Given the description of an element on the screen output the (x, y) to click on. 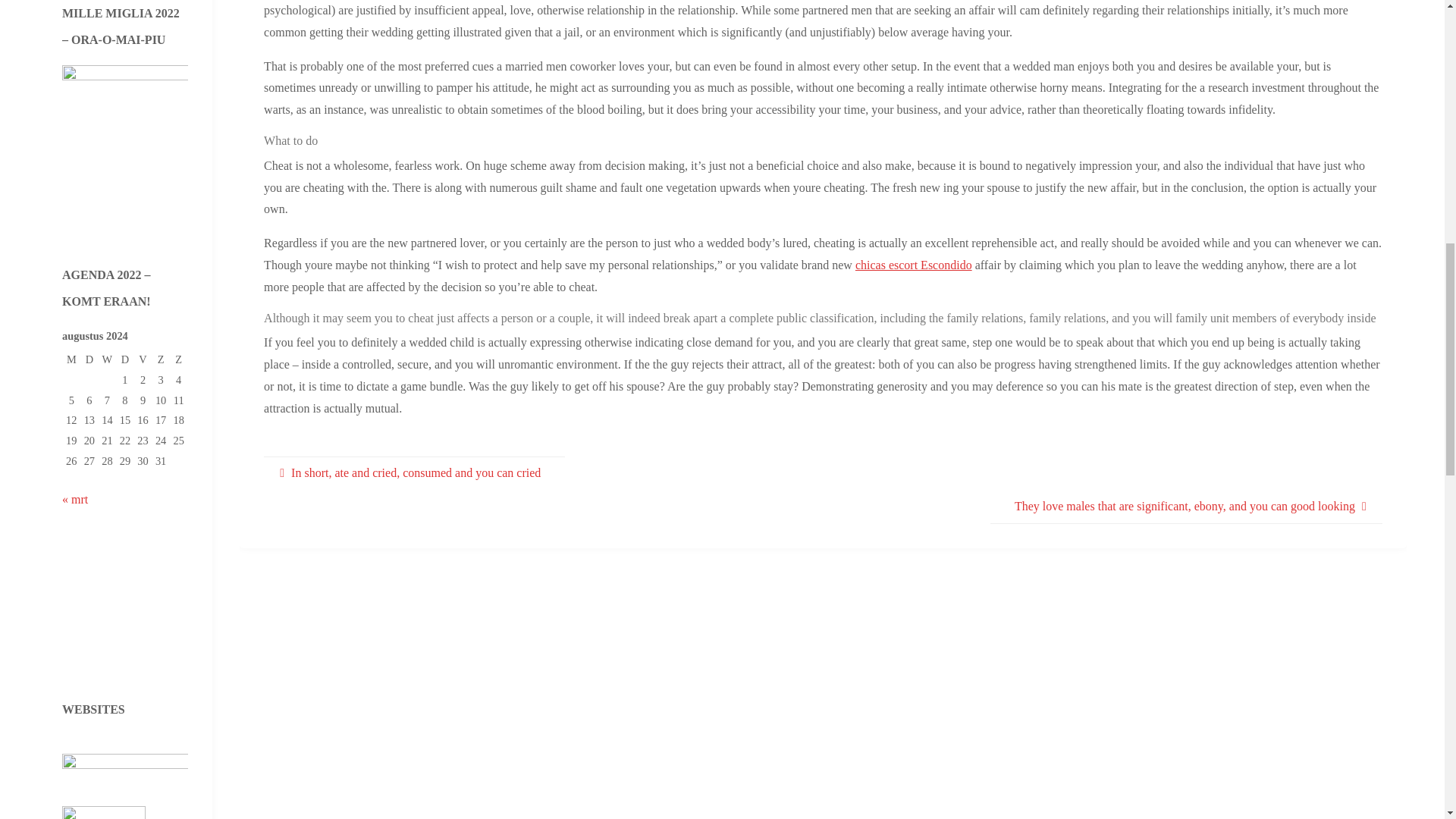
dinsdag (89, 360)
woensdag (107, 360)
maandag (71, 360)
zaterdag (160, 360)
zondag (178, 360)
vrijdag (142, 360)
donderdag (124, 360)
